Given the description of an element on the screen output the (x, y) to click on. 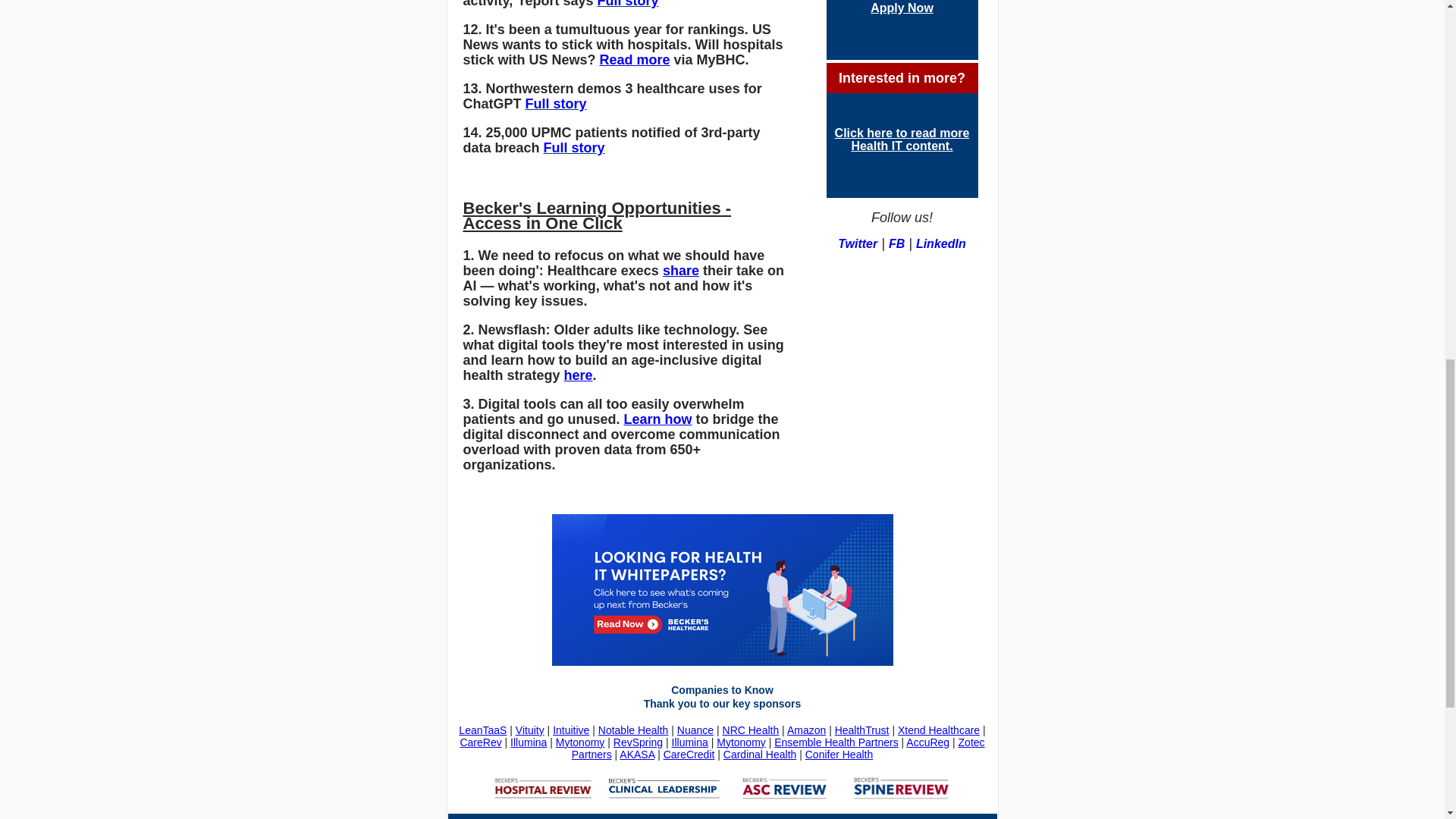
Full story (555, 103)
here (578, 375)
share (680, 270)
Click here to read more Health IT content. (901, 139)
Full story (627, 4)
Full story (574, 147)
Apply Now (901, 7)
Twitter (857, 243)
Intuitive (571, 729)
Interested in more? (901, 77)
Vituity (529, 729)
Read more (634, 59)
FB (896, 243)
LinkedIn (940, 243)
LeanTaaS (482, 729)
